Given the description of an element on the screen output the (x, y) to click on. 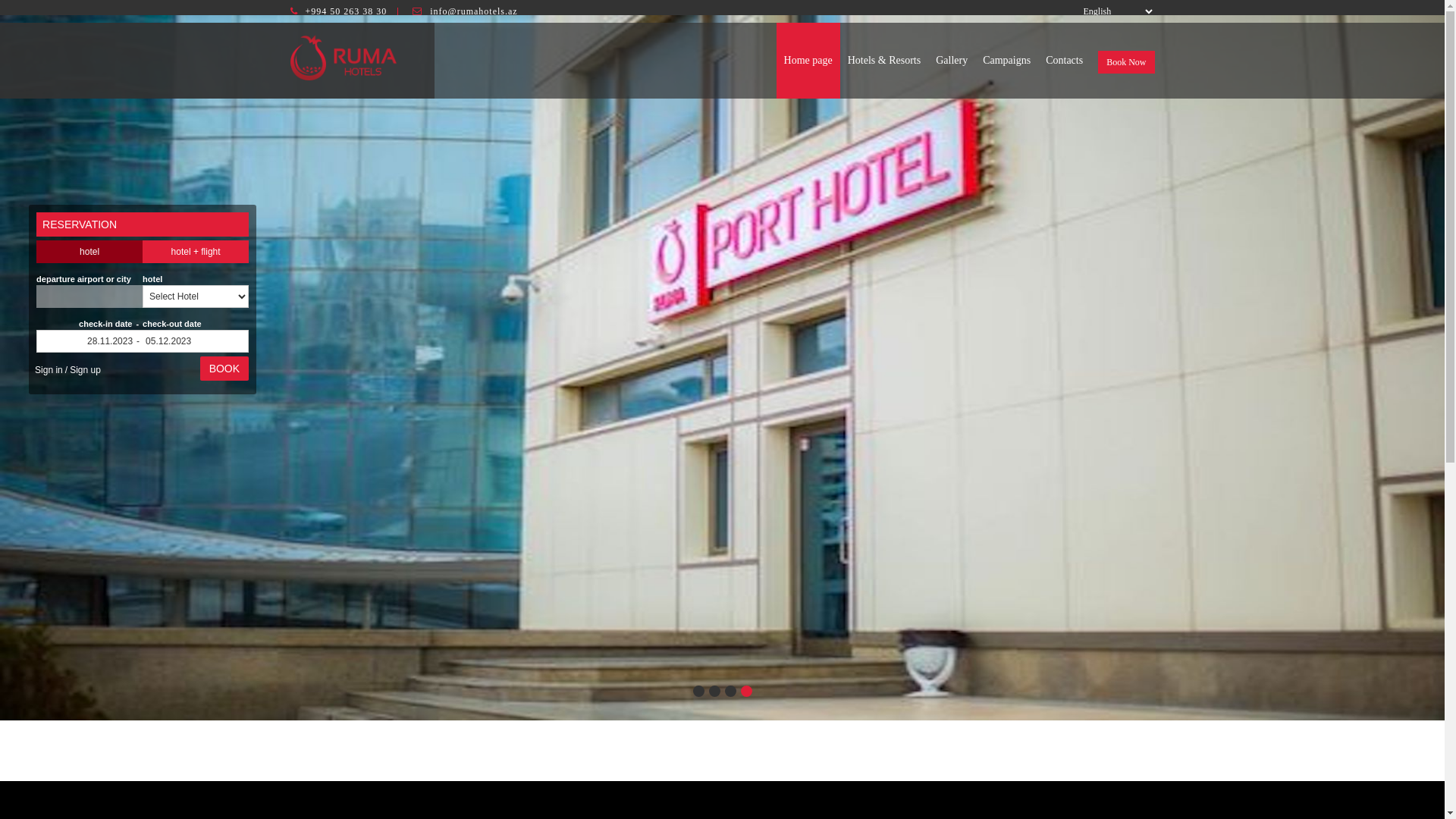
05.12.2023 Element type: text (195, 340)
info@rumahotels.az Element type: text (473, 11)
Sign up Element type: text (85, 369)
+994 50 263 38 30 Element type: text (345, 11)
Sign in Element type: text (48, 369)
Campaigns Element type: text (1006, 60)
Gallery Element type: text (951, 60)
BOOK Element type: text (224, 368)
Home page Element type: text (808, 60)
Book Now Element type: text (1126, 61)
Contacts Element type: text (1064, 60)
28.11.2023 Element type: text (89, 340)
Hotels & Resorts Element type: text (884, 60)
